Given the description of an element on the screen output the (x, y) to click on. 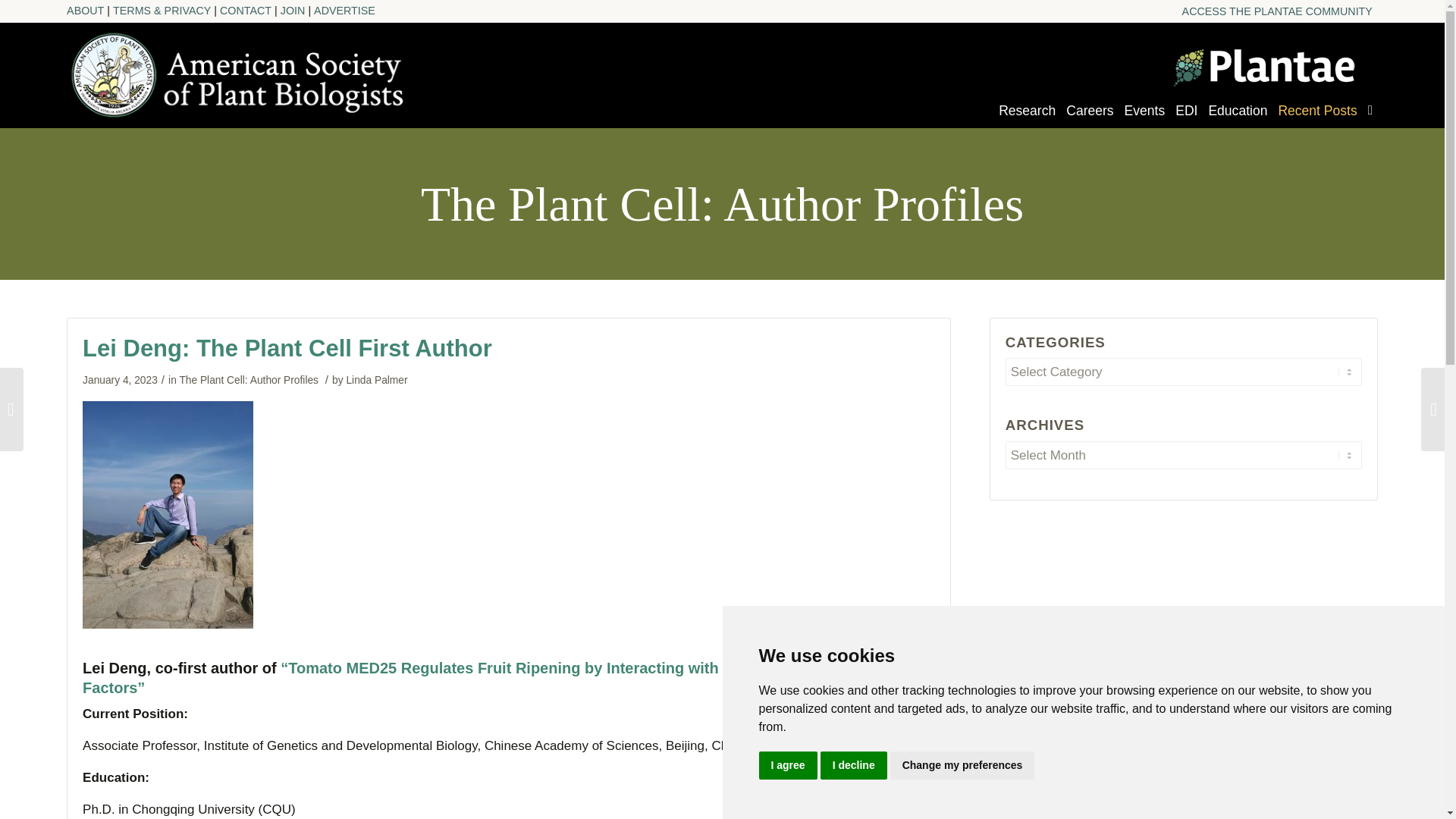
EDI (1186, 118)
Careers (1089, 118)
Research (1026, 118)
Recent Posts (1316, 118)
JOIN (297, 10)
CONTACT (250, 10)
ABOUT (89, 10)
Permanent Link: The Plant Cell: Author Profiles (721, 199)
ACCESS THE PLANTAE COMMUNITY (1276, 12)
Posts by Linda Palmer (376, 379)
Change my preferences (962, 765)
Permanent Link: Lei Deng: The Plant Cell First Author (287, 347)
ADVERTISE (344, 10)
I agree (787, 765)
I decline (853, 765)
